Given the description of an element on the screen output the (x, y) to click on. 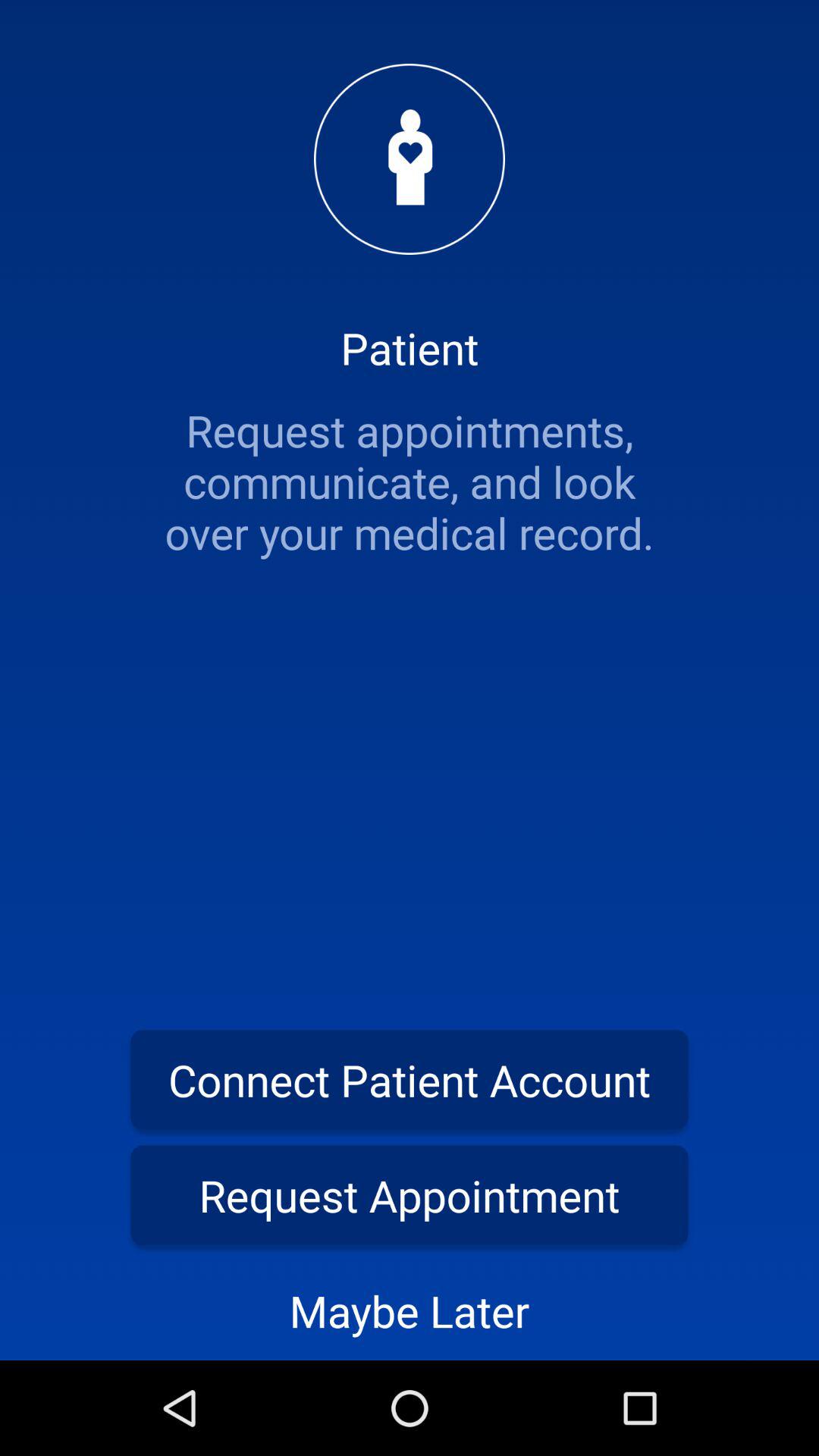
select connect patient account item (409, 1079)
